Given the description of an element on the screen output the (x, y) to click on. 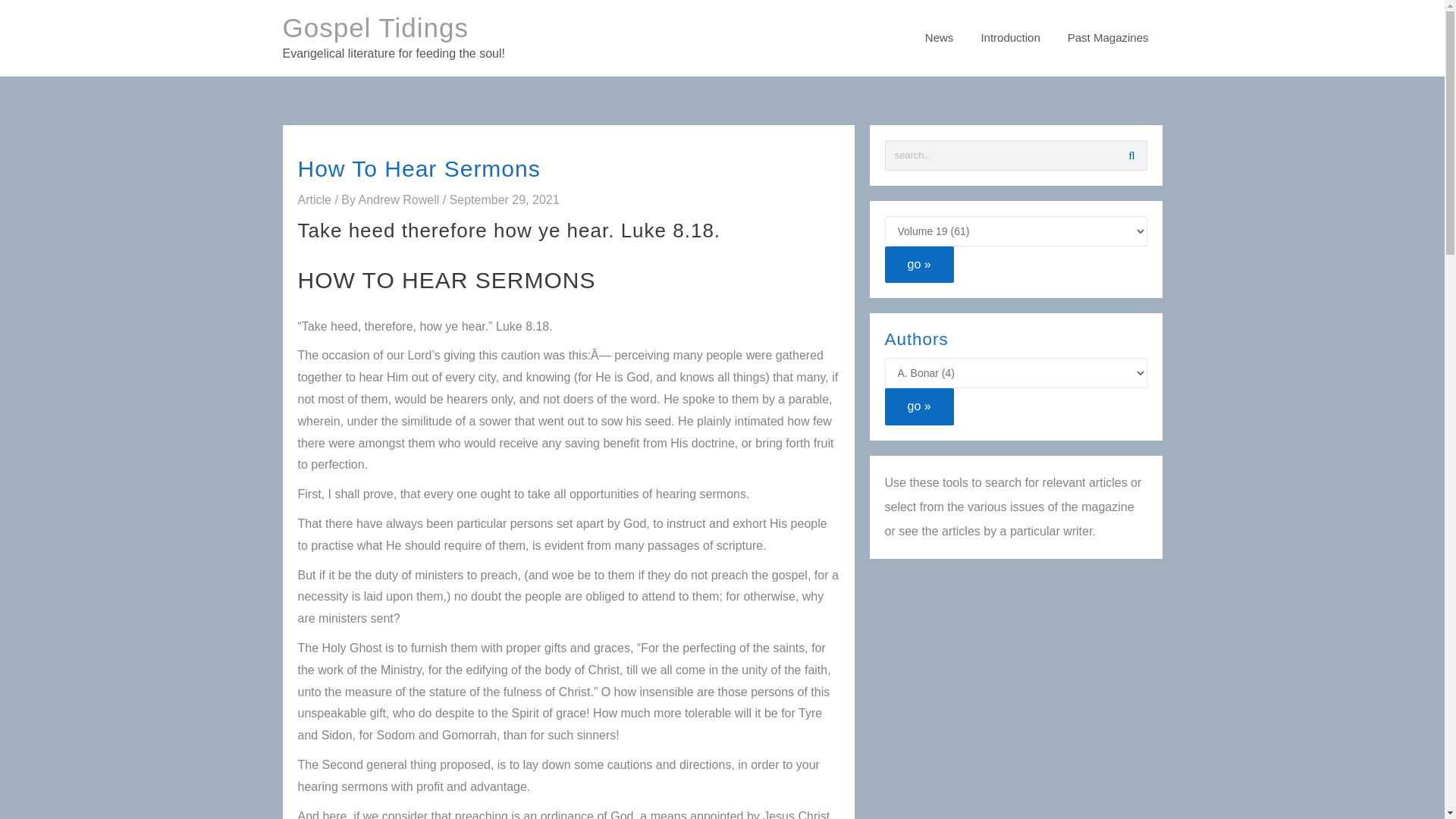
Andrew Rowell (400, 199)
News (939, 37)
Past Magazines (1107, 37)
Search (1131, 155)
Search (1131, 155)
Gospel Tidings (375, 27)
Introduction (1009, 37)
Article (313, 199)
View all posts by Andrew Rowell (400, 199)
